Given the description of an element on the screen output the (x, y) to click on. 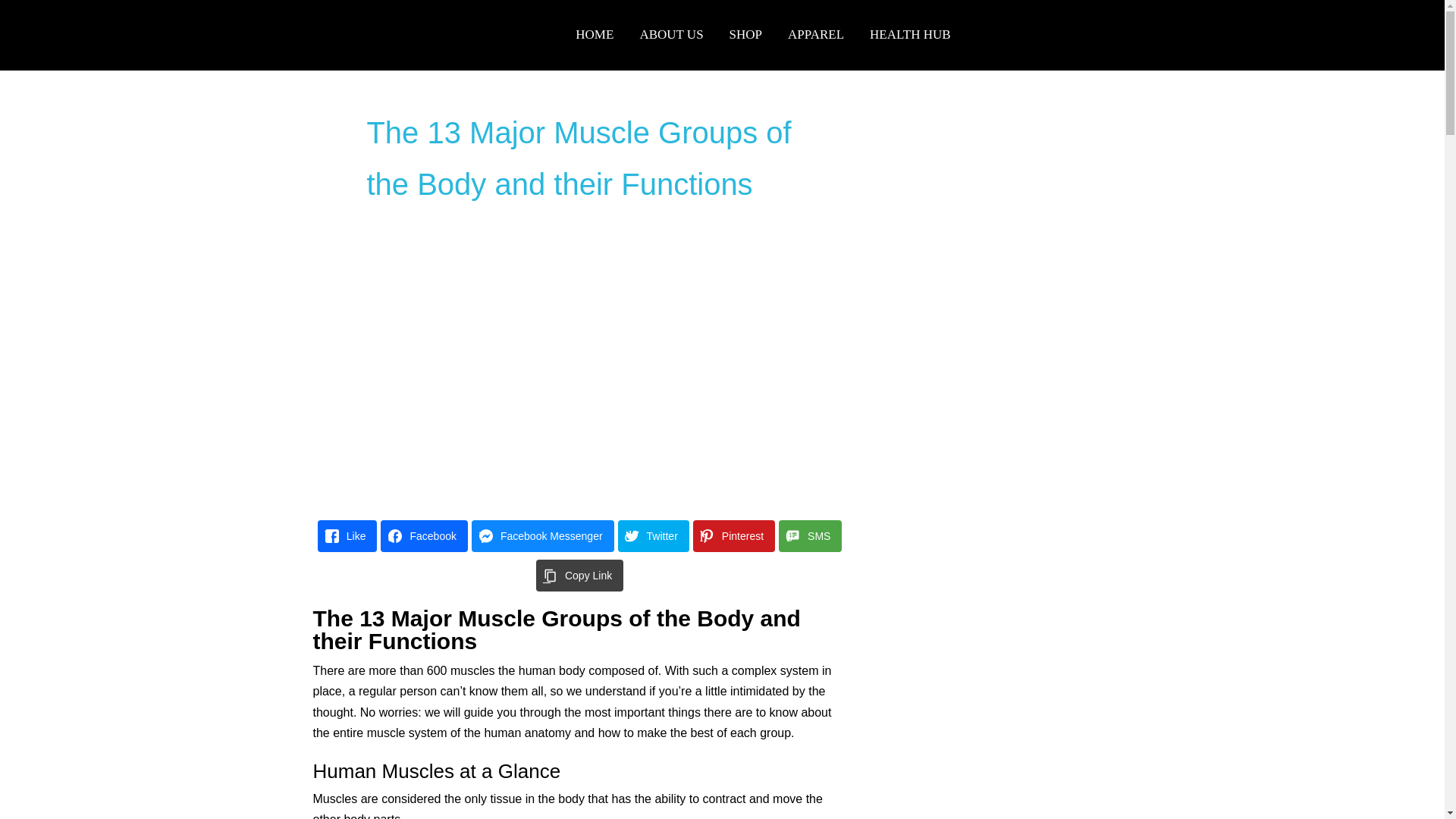
Twitter (652, 536)
APPAREL (762, 34)
Pinterest (815, 34)
Copy Link (733, 536)
SHOP (579, 575)
Like (745, 34)
Share on SMS (347, 536)
Share on Facebook Messenger (809, 536)
SMS (542, 536)
